Given the description of an element on the screen output the (x, y) to click on. 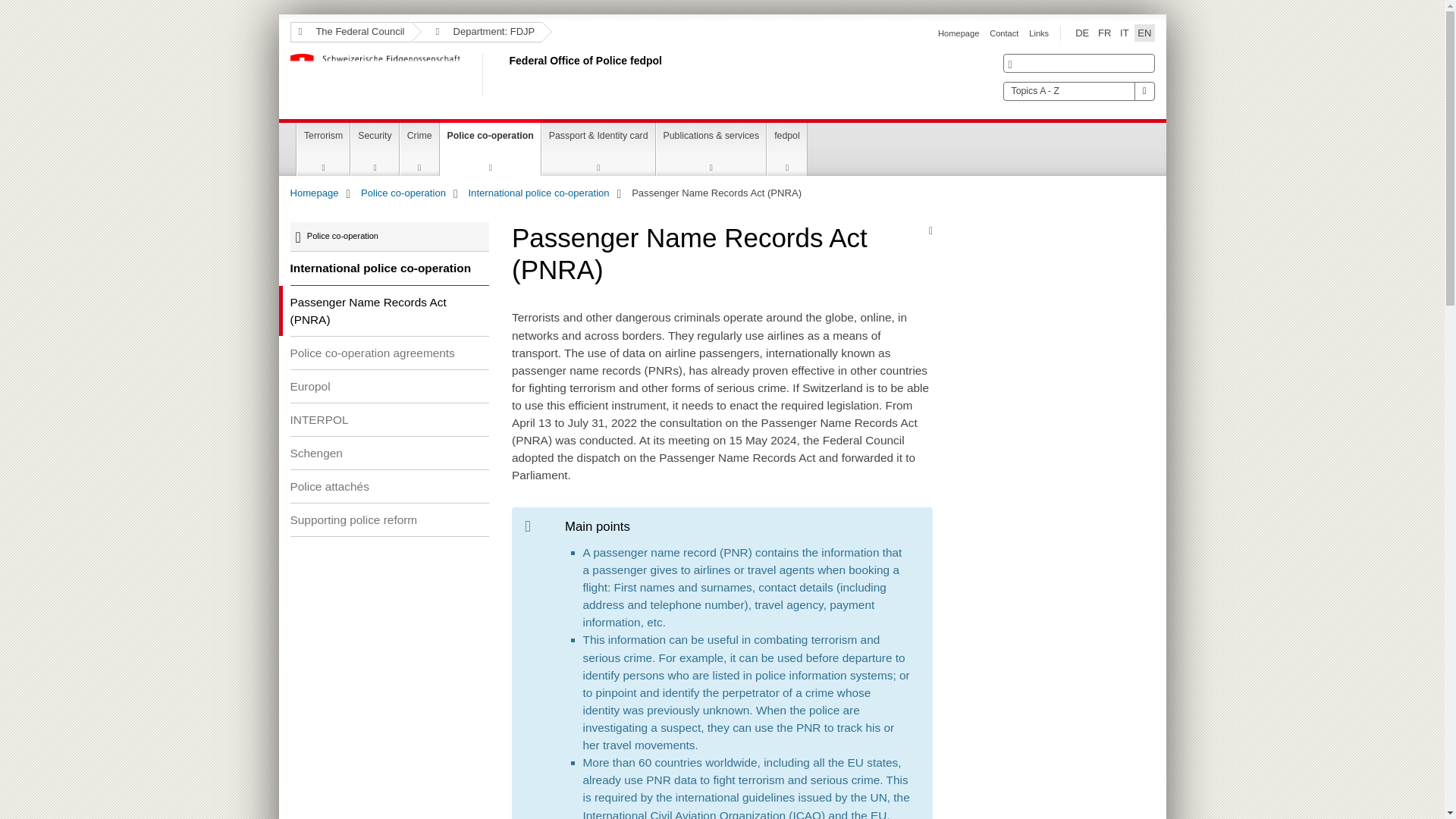
The Federal Council (350, 32)
Federal Office of Police fedpol (505, 75)
Homepage (957, 32)
Links (1038, 32)
IT (1124, 32)
Department: FDJP (476, 32)
Contact (1003, 32)
FR (1103, 32)
EN (1144, 32)
Topics A - Z (1078, 90)
DE (1081, 32)
